Given the description of an element on the screen output the (x, y) to click on. 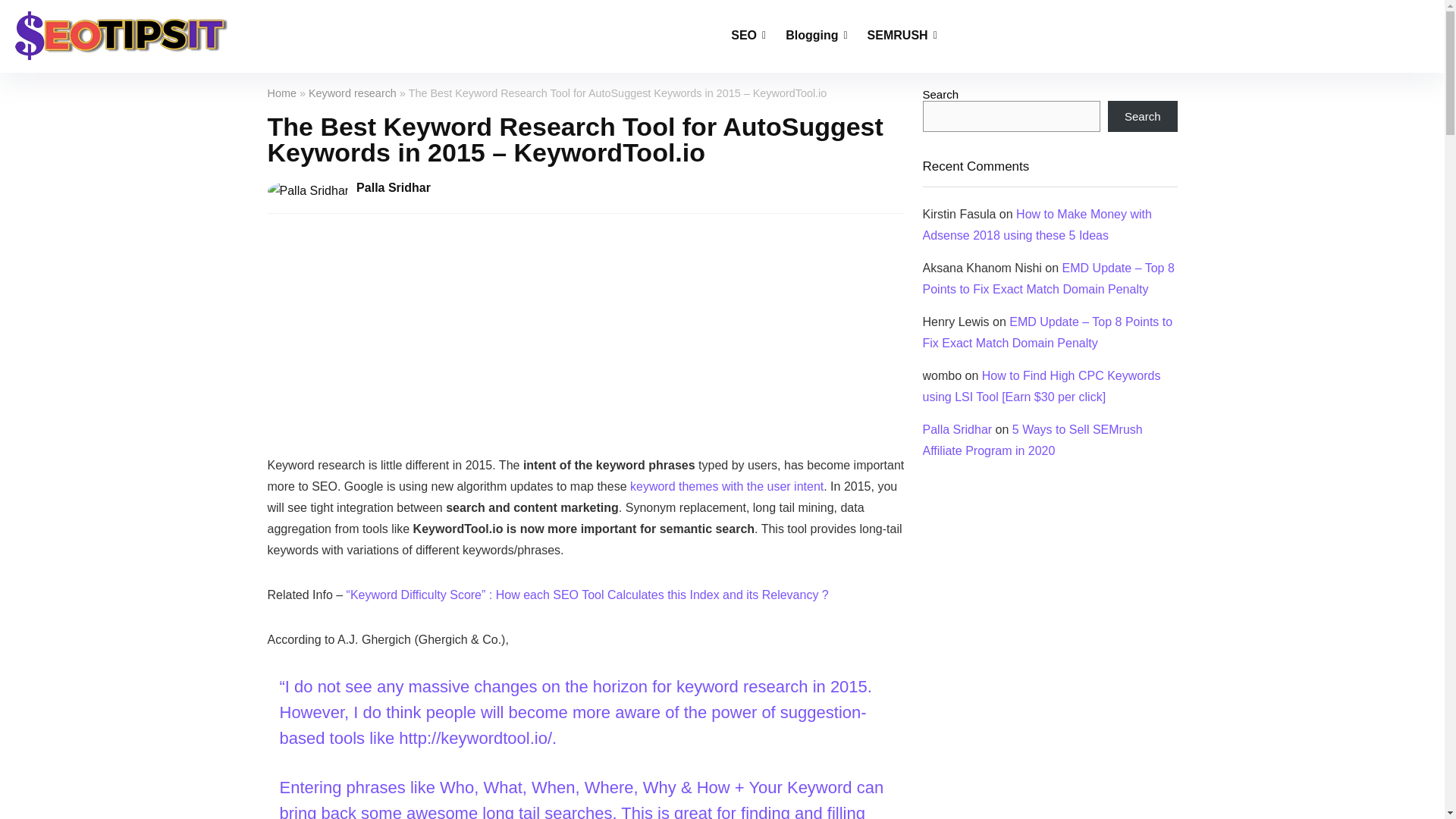
Home (280, 92)
Blogging (816, 36)
Advertisement (1048, 605)
SEMRUSH (902, 36)
Keyword research (352, 92)
SEO (748, 36)
Palla Sridhar (393, 187)
keyword themes with the user intent (727, 486)
